Given the description of an element on the screen output the (x, y) to click on. 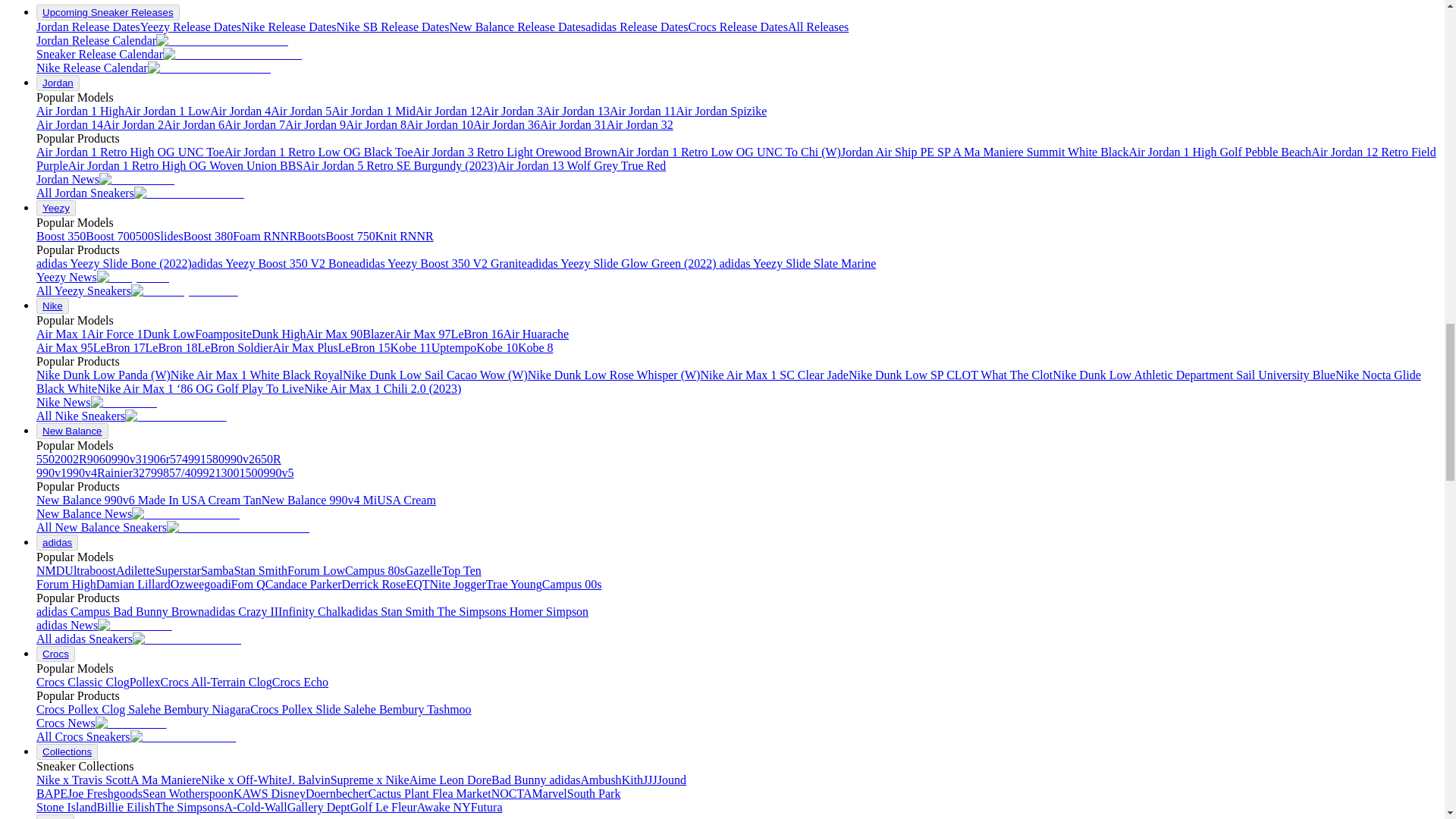
Jordan Release Calendar (162, 40)
Air Jordan 2 (133, 124)
Air Jordan 11 (642, 110)
Jordan (58, 82)
New Balance Release Dates (516, 26)
Air Jordan 36 (506, 124)
Crocs Release Dates (737, 26)
Upcoming Sneaker Releases (107, 12)
Air Jordan 1 High (79, 110)
Upcoming Sneaker Releases (107, 12)
